Given the description of an element on the screen output the (x, y) to click on. 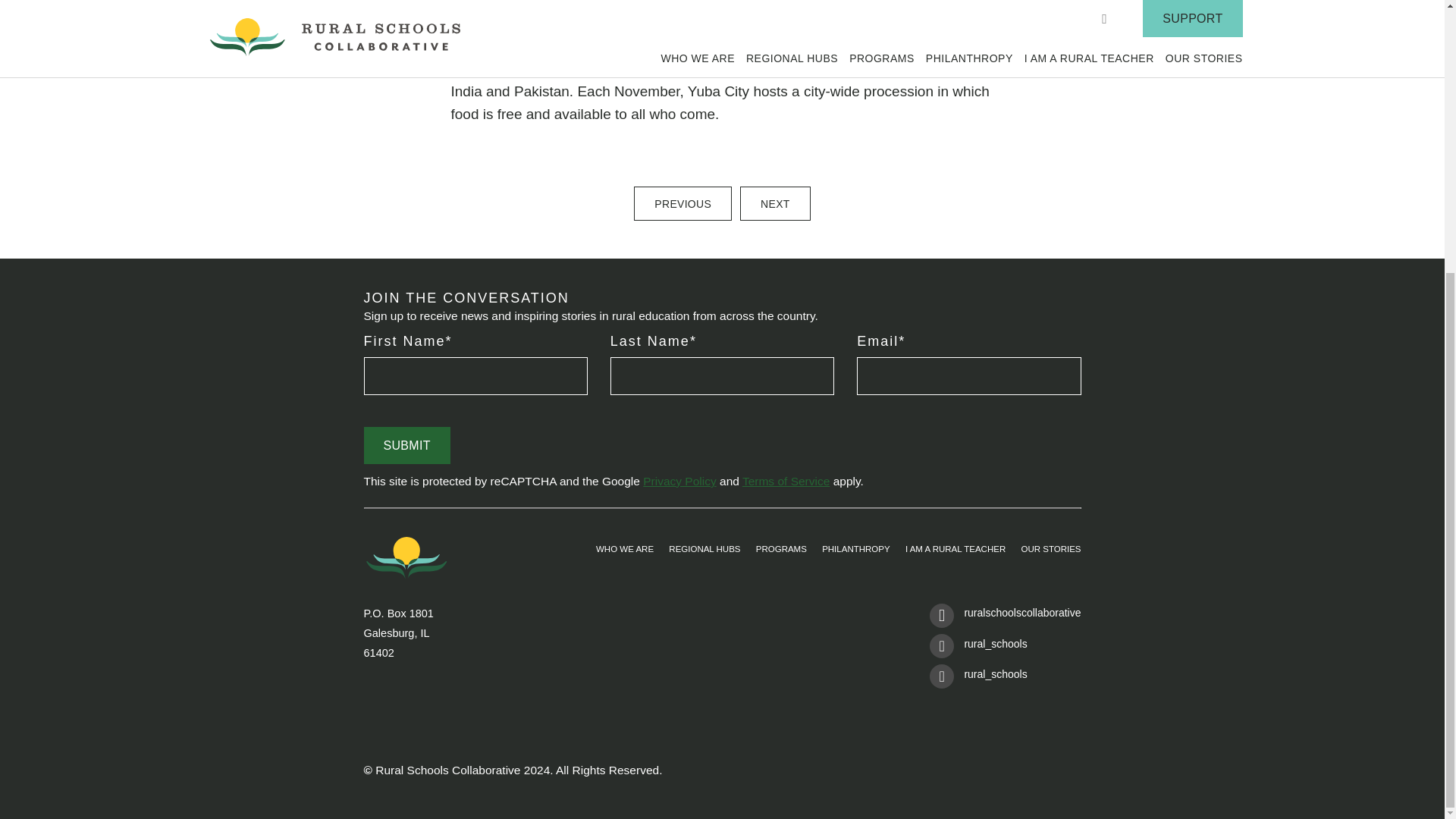
NEXT (774, 203)
ruralschoolscollaborative (1005, 618)
PREVIOUS (682, 203)
SUBMIT (406, 445)
